Given the description of an element on the screen output the (x, y) to click on. 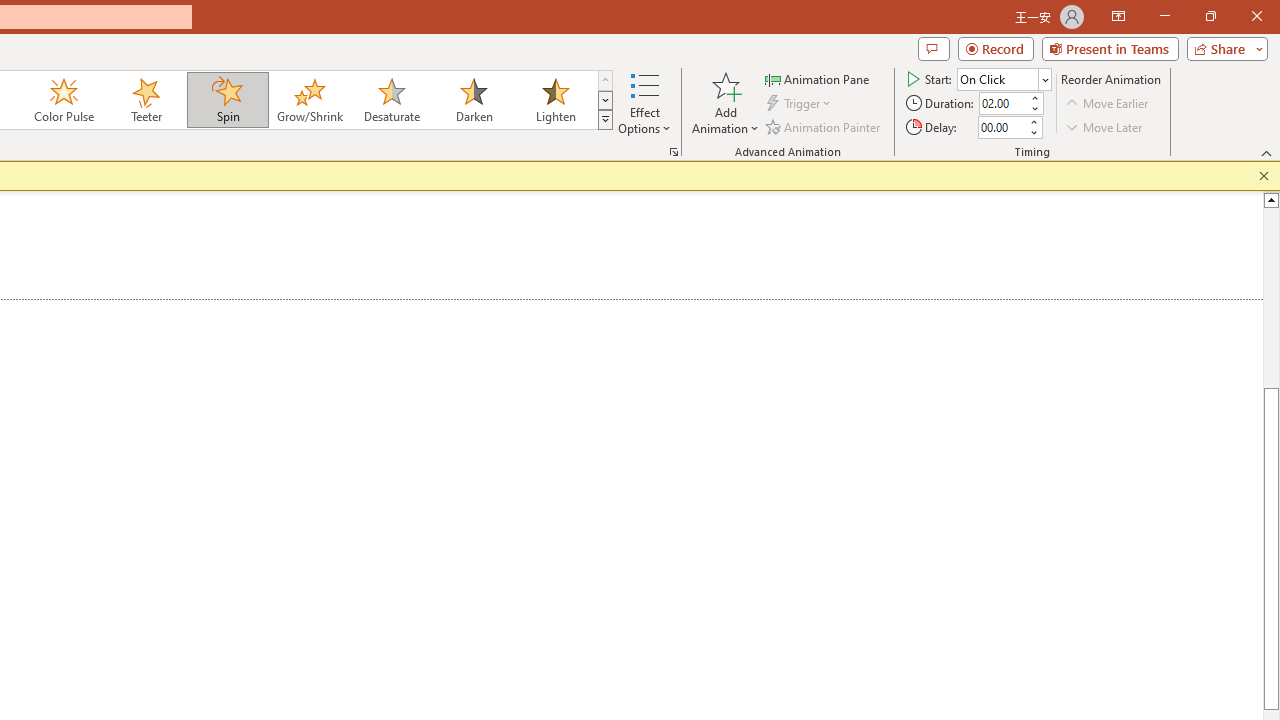
Animation Styles (605, 120)
Darken (473, 100)
Start (1004, 78)
Animation Duration (1003, 103)
More (1033, 121)
Class: NetUIImage (605, 119)
Open (1044, 79)
Move Later (1105, 126)
Teeter (145, 100)
Trigger (799, 103)
Desaturate (391, 100)
Row Down (605, 100)
More Options... (673, 151)
